Given the description of an element on the screen output the (x, y) to click on. 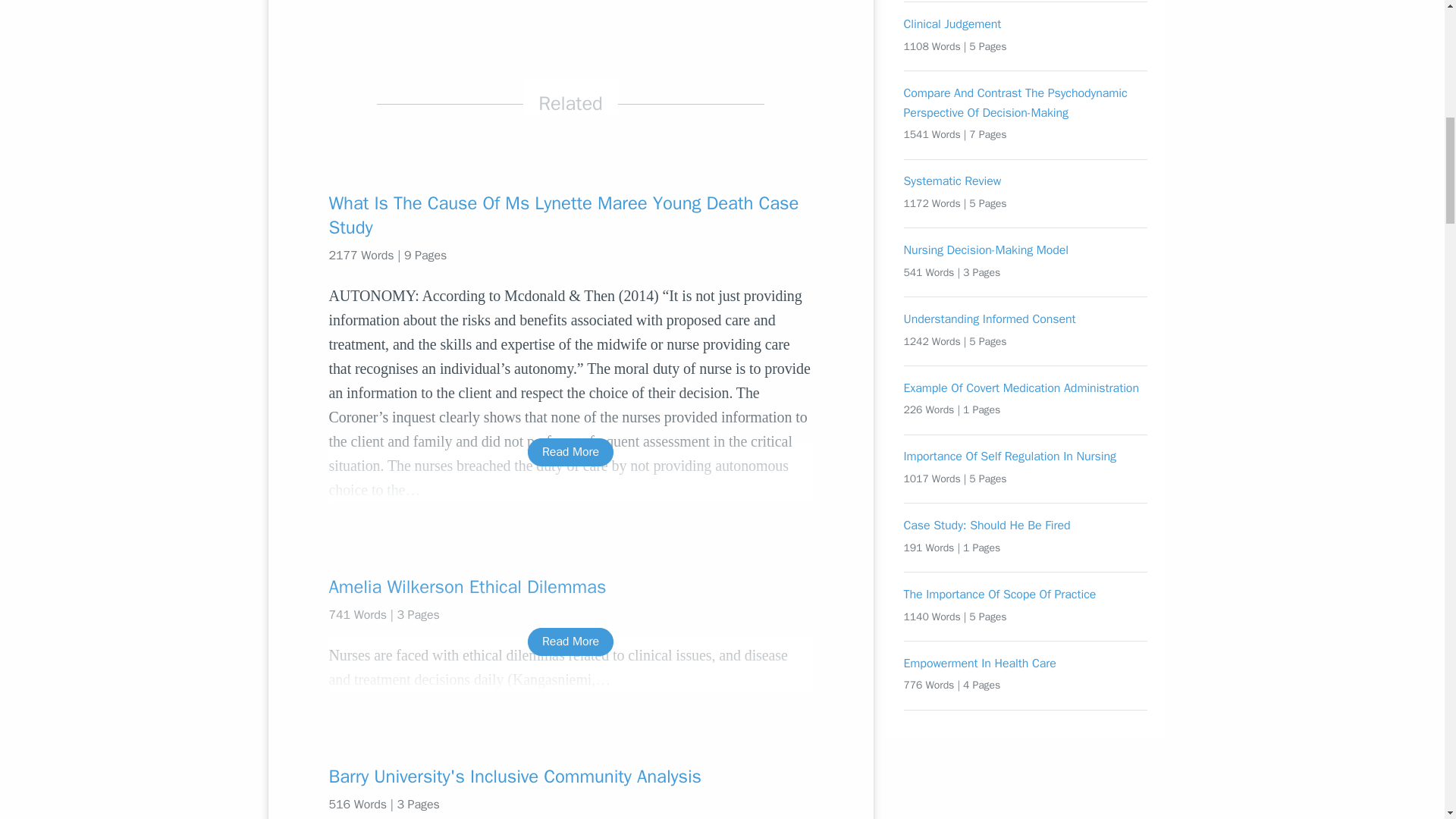
Read More (569, 452)
Read More (569, 642)
What Is The Cause Of Ms Lynette Maree Young Death Case Study (570, 215)
Amelia Wilkerson Ethical Dilemmas (570, 586)
Barry University's Inclusive Community Analysis (570, 776)
